Given the description of an element on the screen output the (x, y) to click on. 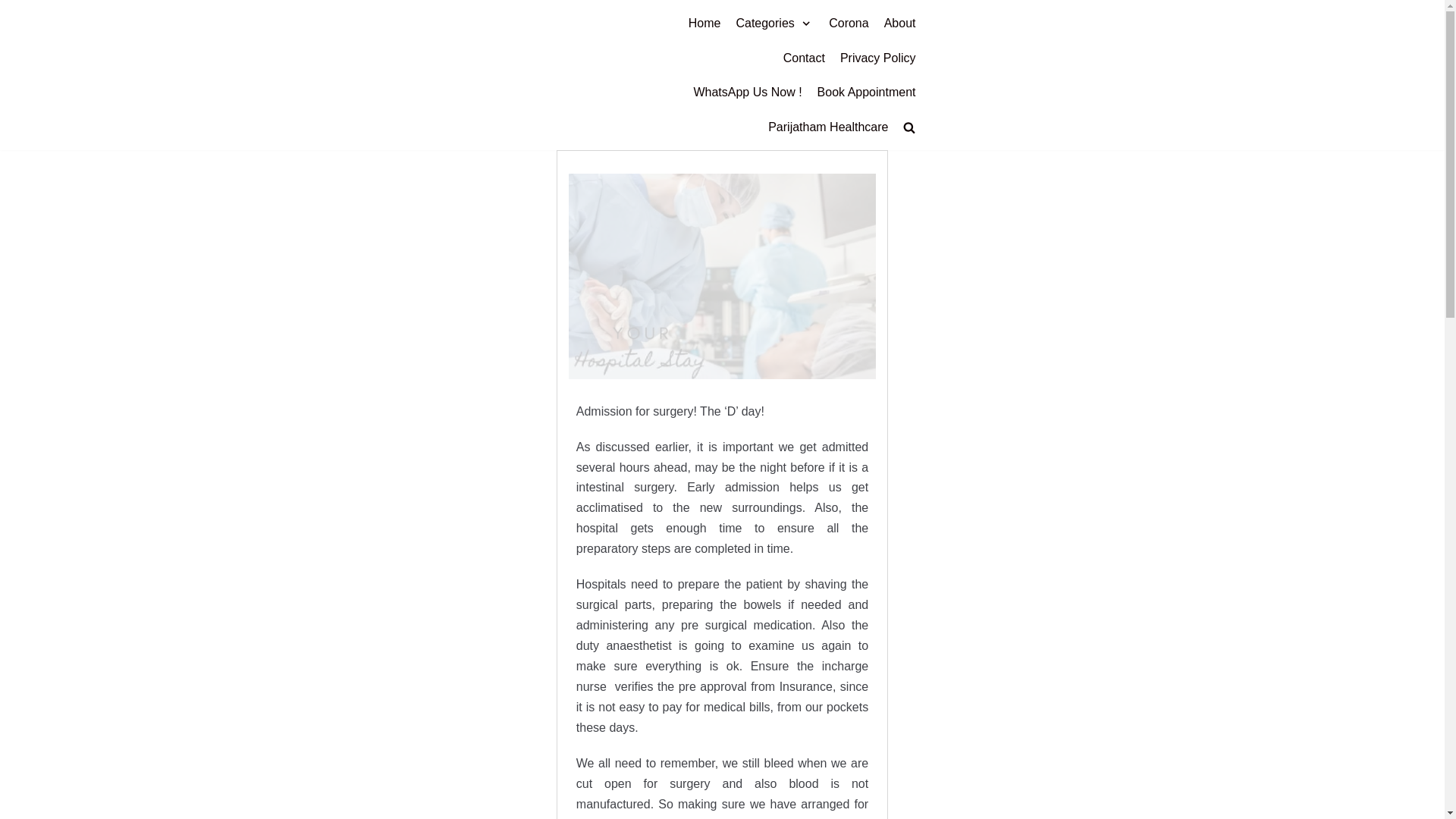
Book Appointment (865, 92)
Categories (774, 23)
Skip to content (15, 7)
Privacy Policy (877, 57)
About (899, 23)
Corona (847, 23)
Contact (804, 57)
Home (704, 23)
WhatsApp Us Now ! (747, 92)
Parijatham Healthcare (828, 127)
Search (882, 160)
